Given the description of an element on the screen output the (x, y) to click on. 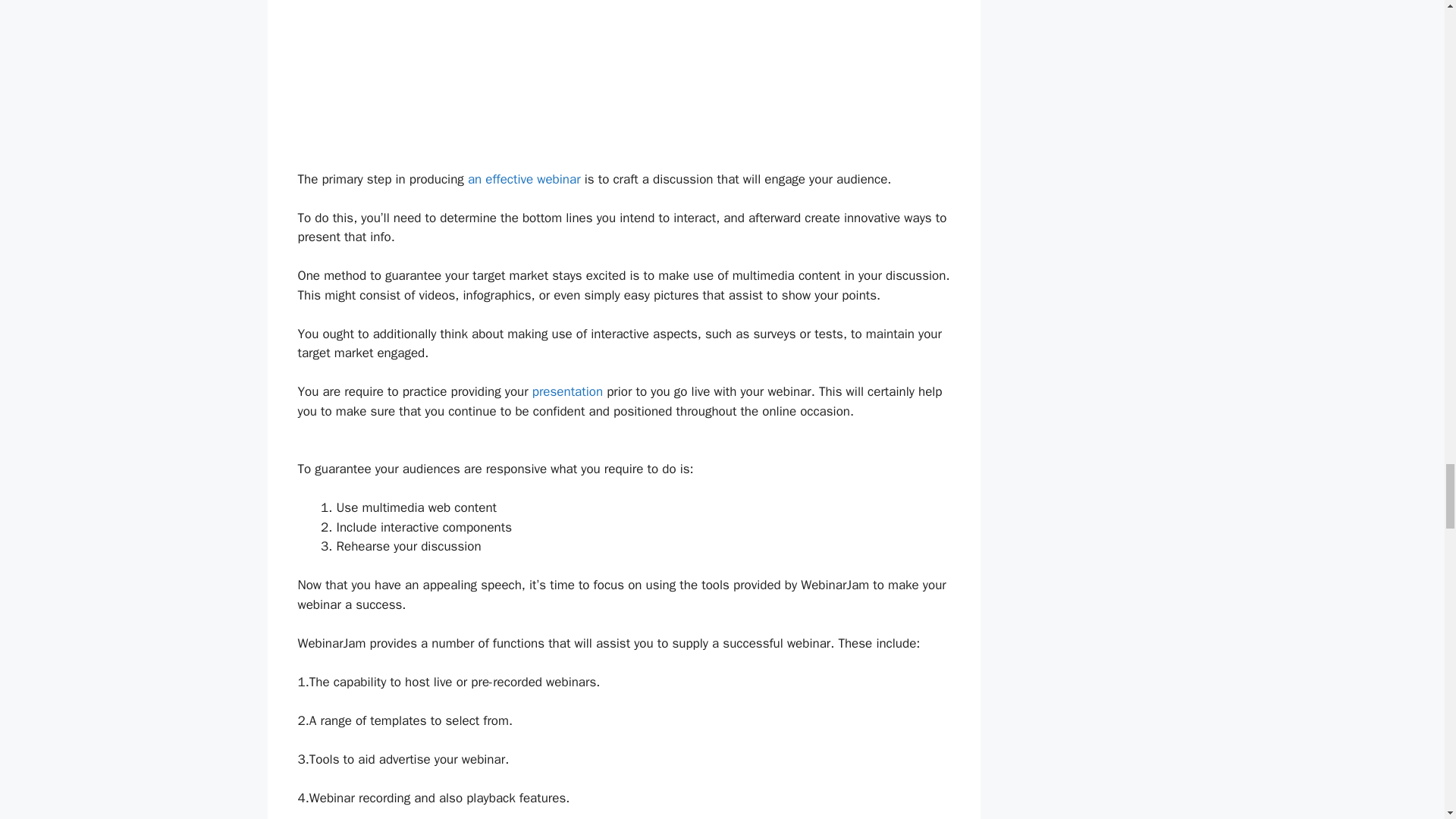
an effective webinar (523, 179)
presentation (567, 391)
